Given the description of an element on the screen output the (x, y) to click on. 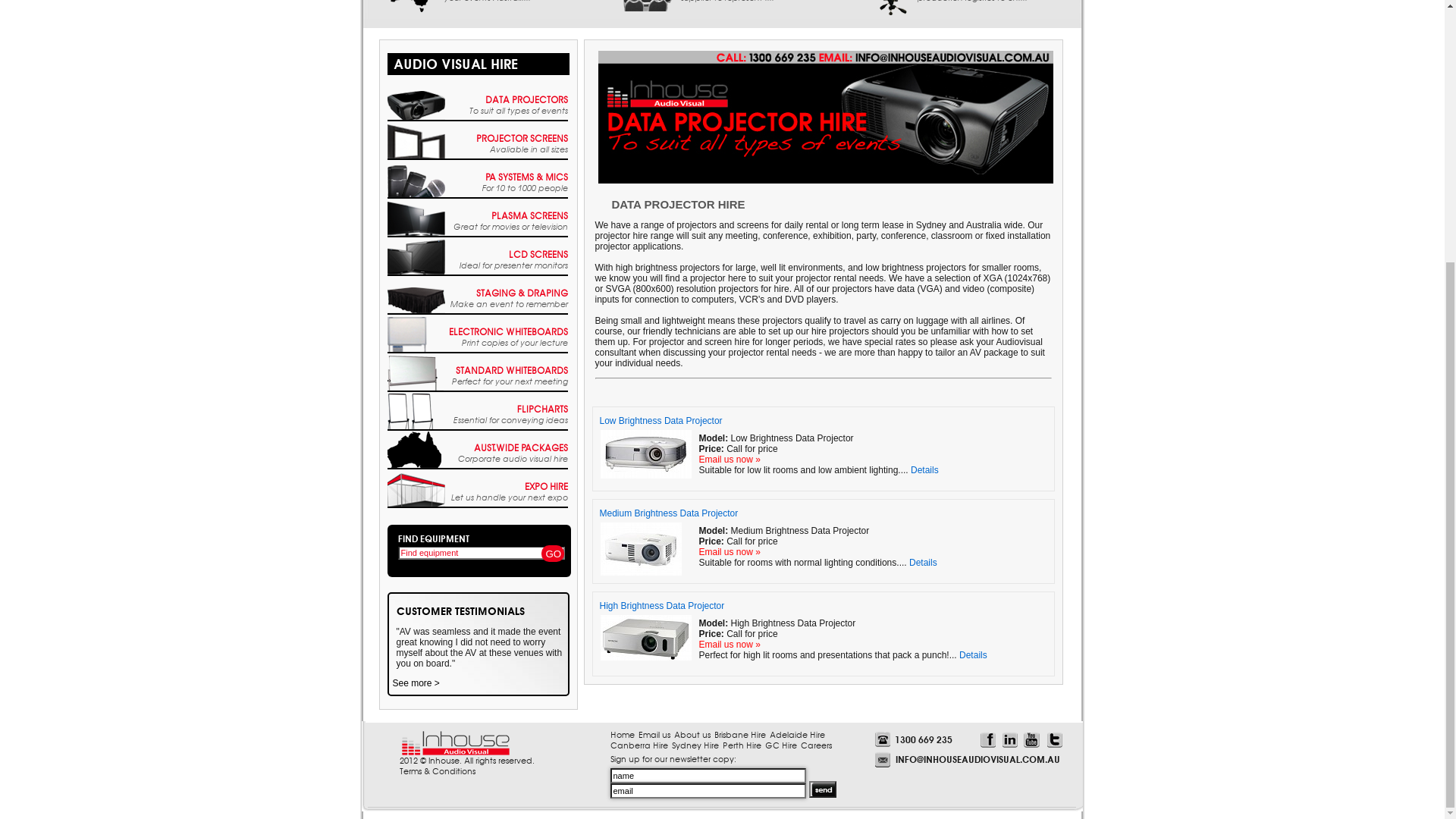
Live Event Streaming Element type: hover (409, 296)
Data Projectors - To suit all types of events Element type: hover (415, 493)
EMAIL US Element type: text (468, 91)
PA SYSTEMS & MICS
For 10 to 1000 people Element type: text (517, 559)
PERTH Element type: text (908, 91)
PA System Hire Element type: hover (615, 182)
Audio Visual Production Element type: hover (646, 298)
Electronic Whiteboards - Print copies of your lecture Element type: hover (415, 725)
STAGING & DRAPING
Make an event to remember Element type: text (508, 675)
Low Brightness Data Projector Element type: text (660, 797)
Staging & Draping - Make an event to remember Element type: hover (415, 686)
BRISBANE Element type: text (720, 91)
ADELAIDE Element type: text (846, 91)
CAREERS Element type: text (1034, 91)
info@inhouseaudiovisual.com.au Element type: text (756, 57)
FLIPCHARTS
Essential for conveying ideas Element type: text (510, 791)
Inhouse - Audio Visual Element type: hover (464, 64)
EVENT MANAGEMENT Element type: hover (883, 390)
DATA PROJECTORS
To suit all types of events Element type: text (517, 481)
Flipcharts - Essential for conveying ideas Element type: hover (415, 802)
Austrlia Wide Road Shows Element type: hover (410, 367)
ROAD SHOWS AUSTRALIA WIDE Element type: hover (410, 387)
LIVE EVENT STREAMING Element type: hover (409, 317)
Event management Element type: hover (883, 368)
PA Systems & Microphone - For 10 to 1000 people Element type: hover (415, 570)
ABOUT US Element type: text (594, 91)
Plasma Screens - Great for movies or television Element type: hover (415, 609)
PA System Hire Element type: hover (615, 249)
PROJECTOR SCREENS
Avaliable in all sizes Element type: text (513, 520)
Inhouse - Audio Visual Element type: hover (464, 44)
NEWS Element type: text (530, 91)
VENUE SERVICES Element type: hover (646, 387)
SYDNEY Element type: text (656, 91)
PLASMA SCREENS
Great for movies or television Element type: text (510, 597)
Standard Whiteboards - Perfect for your next meeting Element type: hover (415, 764)
Projectors Screens - Avaliable in all sizes Element type: hover (415, 532)
STANDARD WHITEBOARDS
Perfect for your next meeting Element type: text (502, 752)
LCD Screens - Ideal for presenter monitors Element type: hover (415, 648)
AUDIO VISUAL PRODUCTION Element type: hover (646, 321)
3D Event Planning Sample Element type: hover (883, 297)
HOME Element type: text (405, 91)
3D EVENT PLANNING Element type: hover (883, 318)
expo hire Element type: hover (646, 367)
GC HIRE Element type: text (972, 91)
ELECTRONIC WHITEBOARDS
Print copies of your lecture Element type: text (499, 713)
LCD SCREENS
Ideal for presenter monitors Element type: text (513, 636)
CANBERRA Element type: text (782, 91)
